Given the description of an element on the screen output the (x, y) to click on. 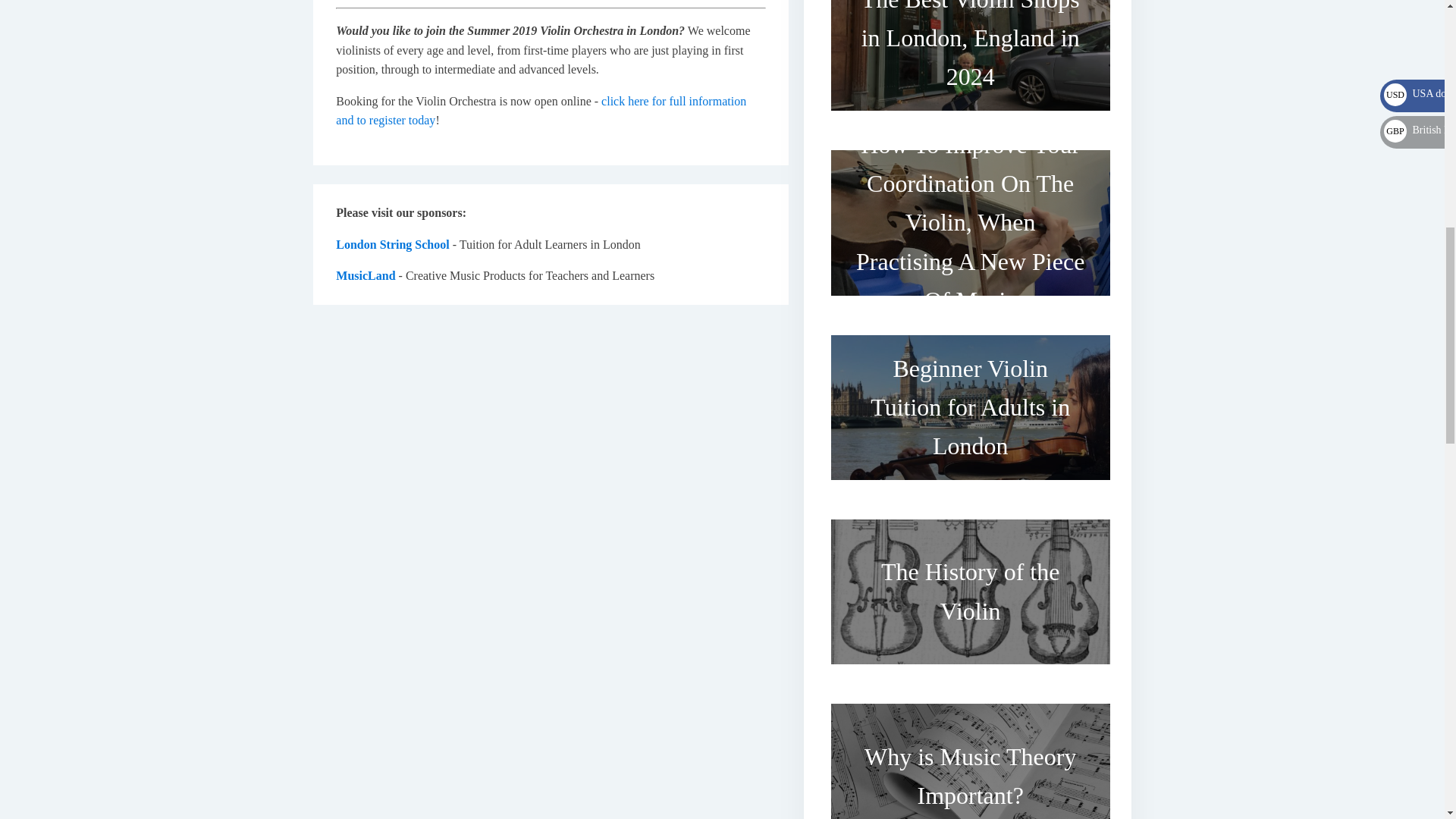
Beginner Violin Tuition for Adults in London (970, 407)
The History of the Violin (970, 591)
Why is Music Theory Important? (970, 755)
click here for full information and to register today (540, 111)
London String School (392, 244)
The Best Violin Shops in London, England in 2024 (970, 61)
MusicLand (365, 275)
